Given the description of an element on the screen output the (x, y) to click on. 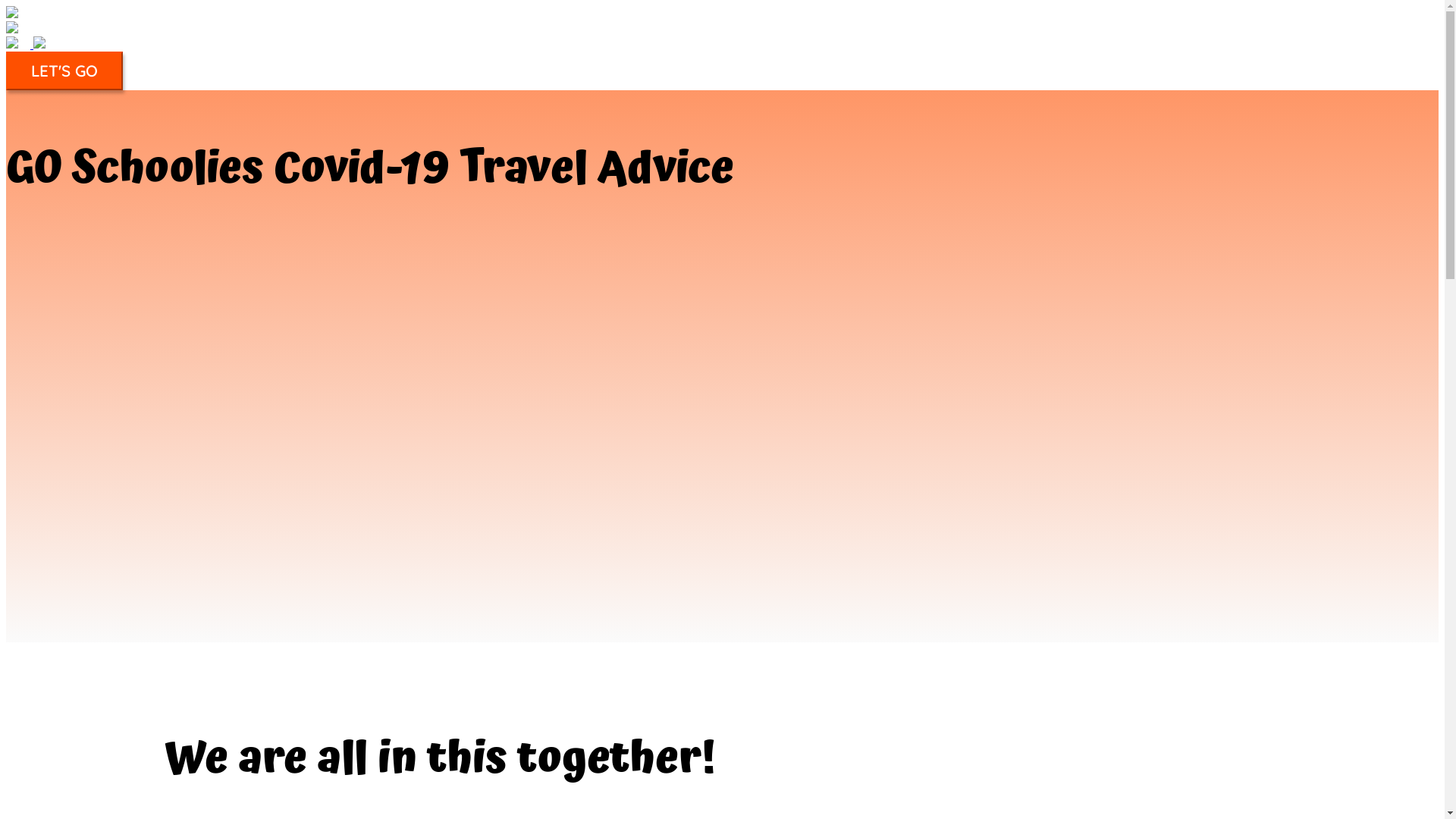
LET'S GO Element type: text (64, 70)
